Given the description of an element on the screen output the (x, y) to click on. 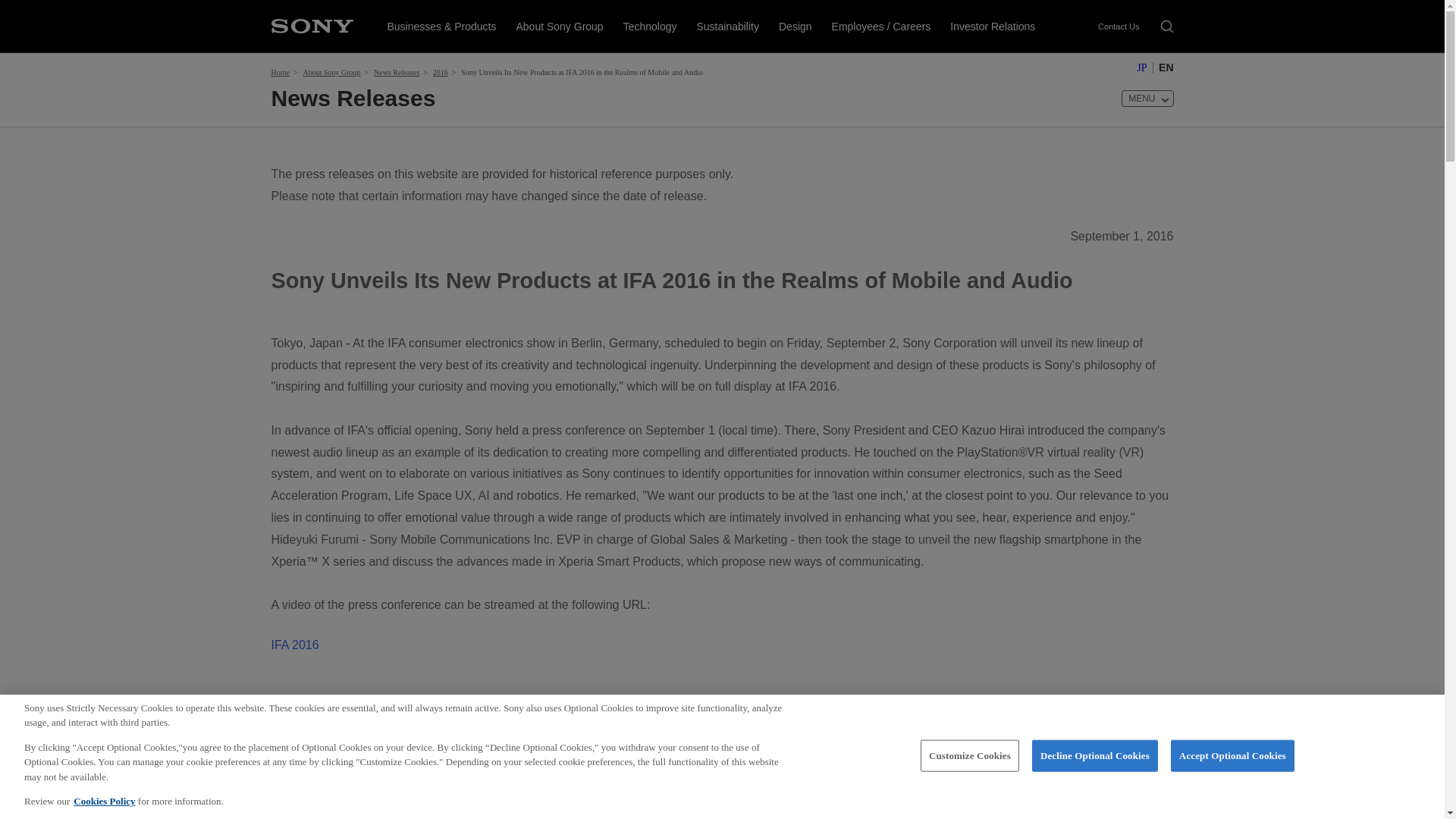
open menu (1147, 98)
Technology (649, 25)
Sustainability (726, 25)
About Sony Group (558, 25)
